Given the description of an element on the screen output the (x, y) to click on. 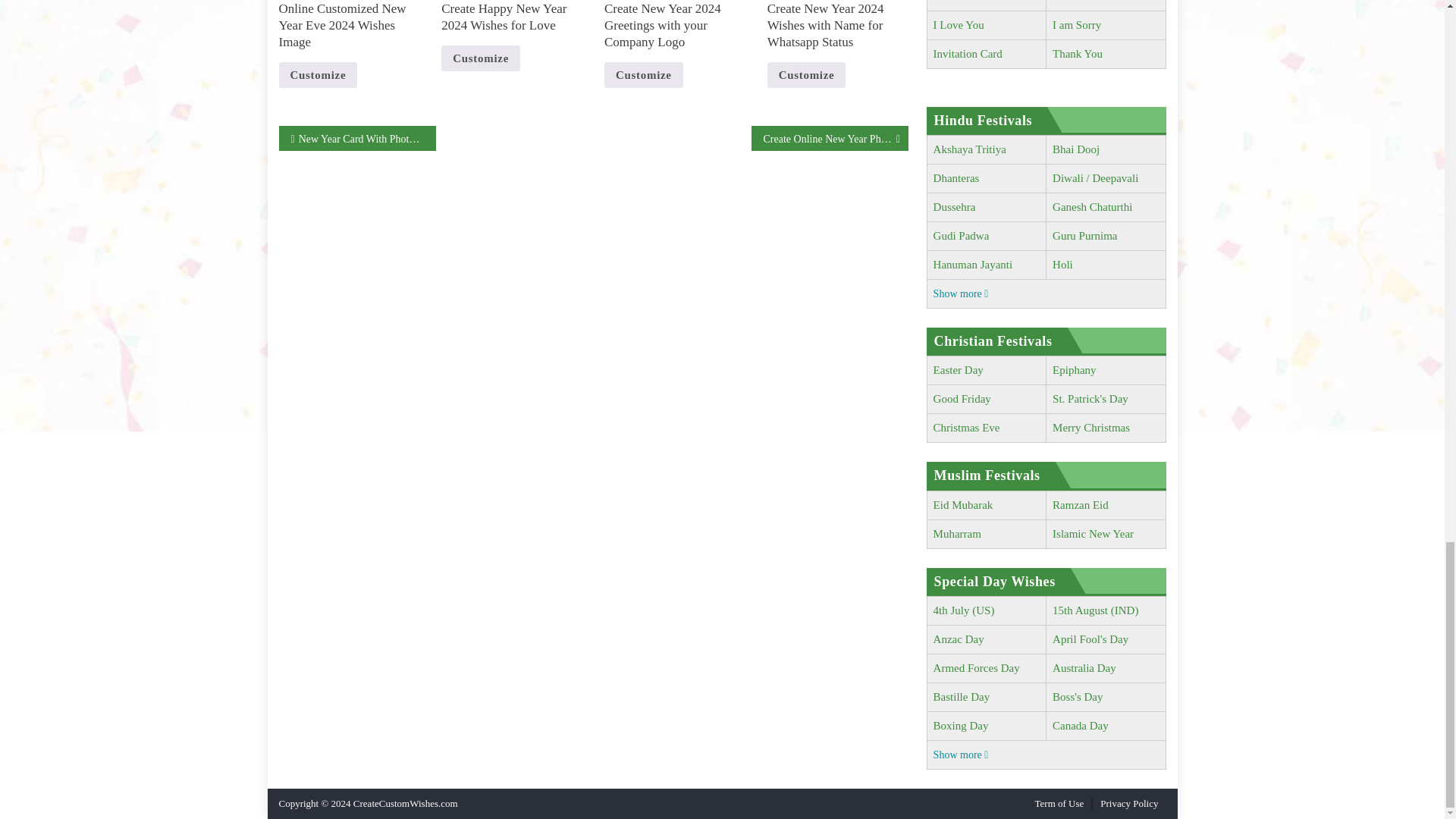
Happy Ganesh Chaturthi (1092, 206)
Dhanteras (956, 177)
Invitation Card (968, 53)
Get Well Soon (966, 1)
Akshaya Tritiya (969, 149)
I am Sorry (1076, 24)
Dussehra (954, 206)
Thank You (1077, 53)
Bhai Dooj (1075, 149)
I Love You (958, 24)
